Given the description of an element on the screen output the (x, y) to click on. 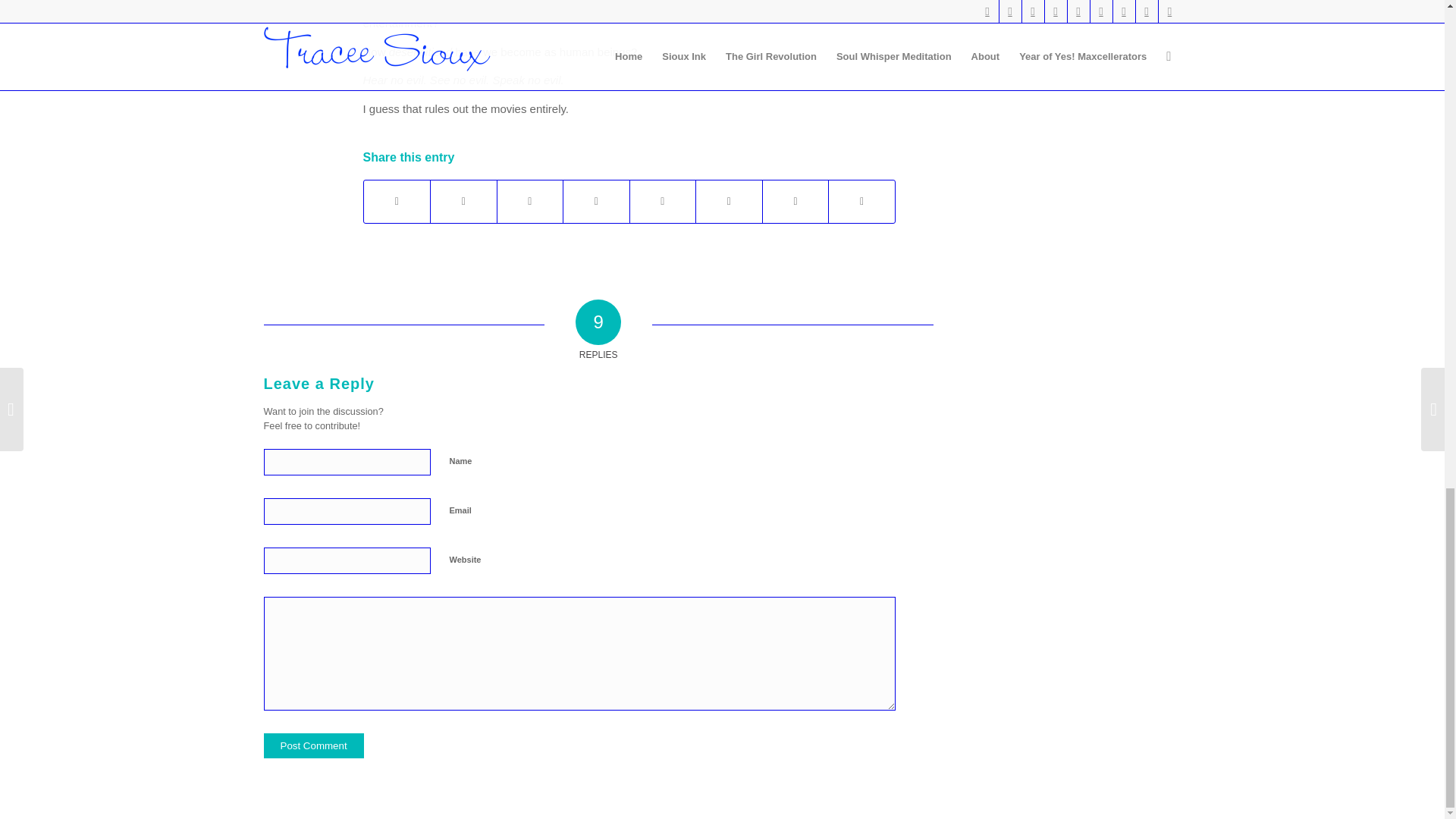
Post Comment (313, 745)
Post Comment (313, 745)
